Given the description of an element on the screen output the (x, y) to click on. 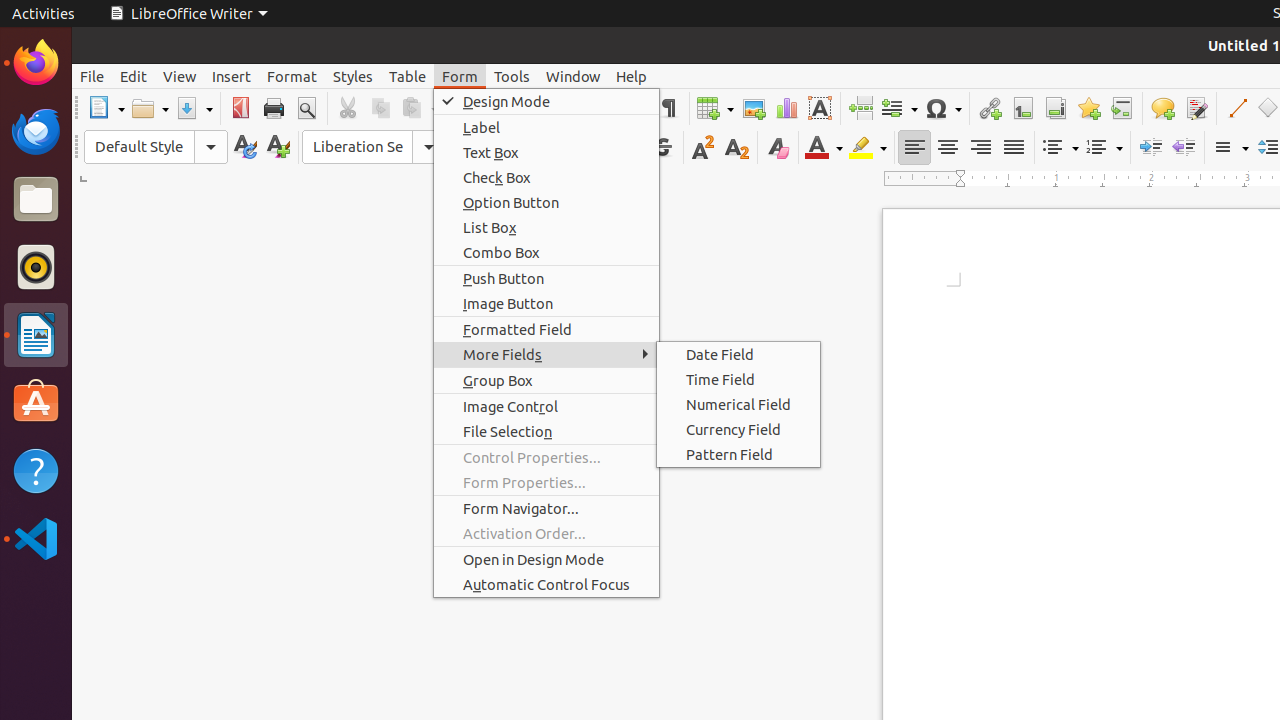
Copy Element type: push-button (380, 108)
Left Element type: toggle-button (914, 147)
Font Size Element type: combo-box (496, 147)
Line Element type: toggle-button (1236, 108)
Thunderbird Mail Element type: push-button (36, 131)
